Given the description of an element on the screen output the (x, y) to click on. 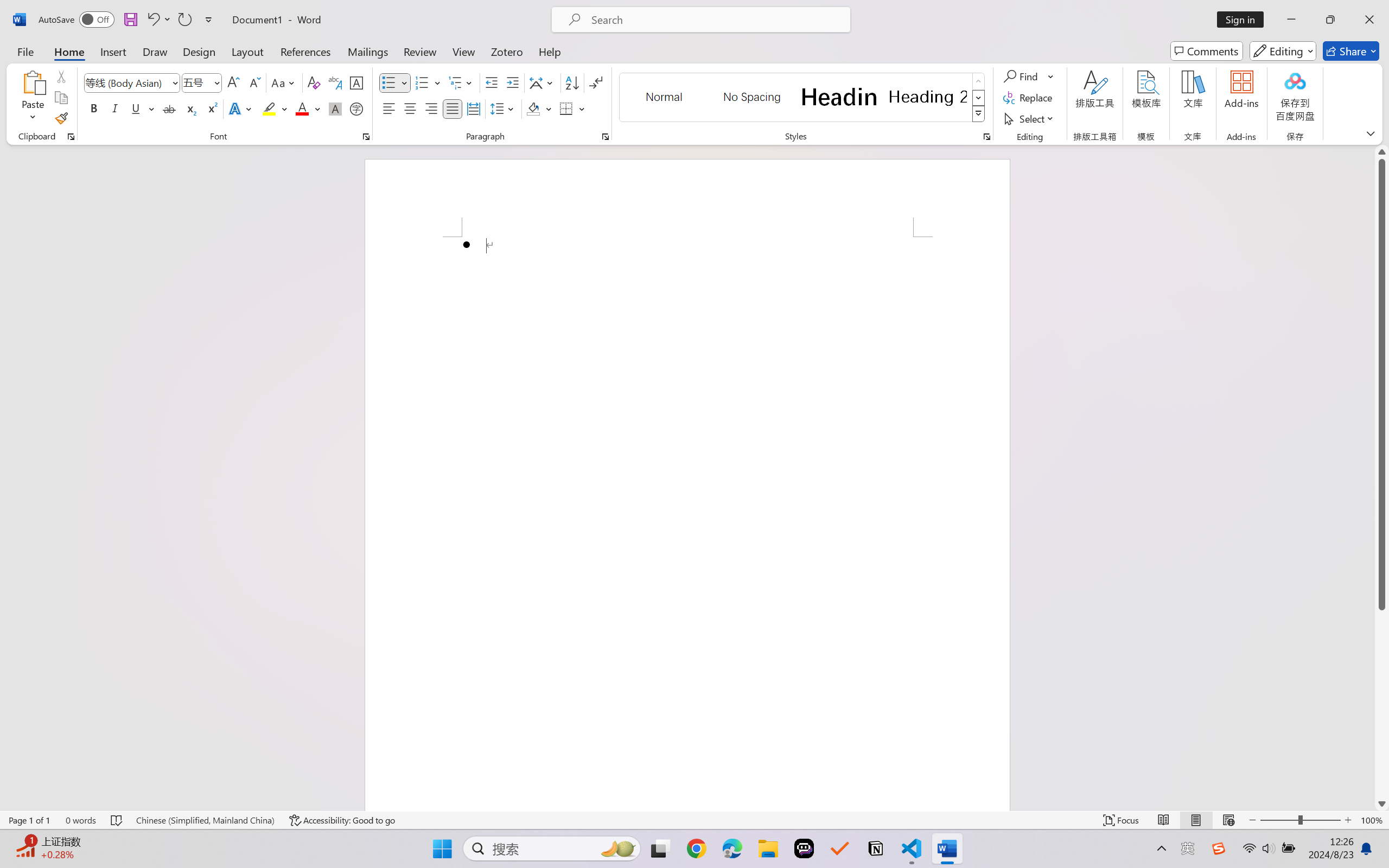
AutomationID: QuickStylesGallery (802, 97)
